Given the description of an element on the screen output the (x, y) to click on. 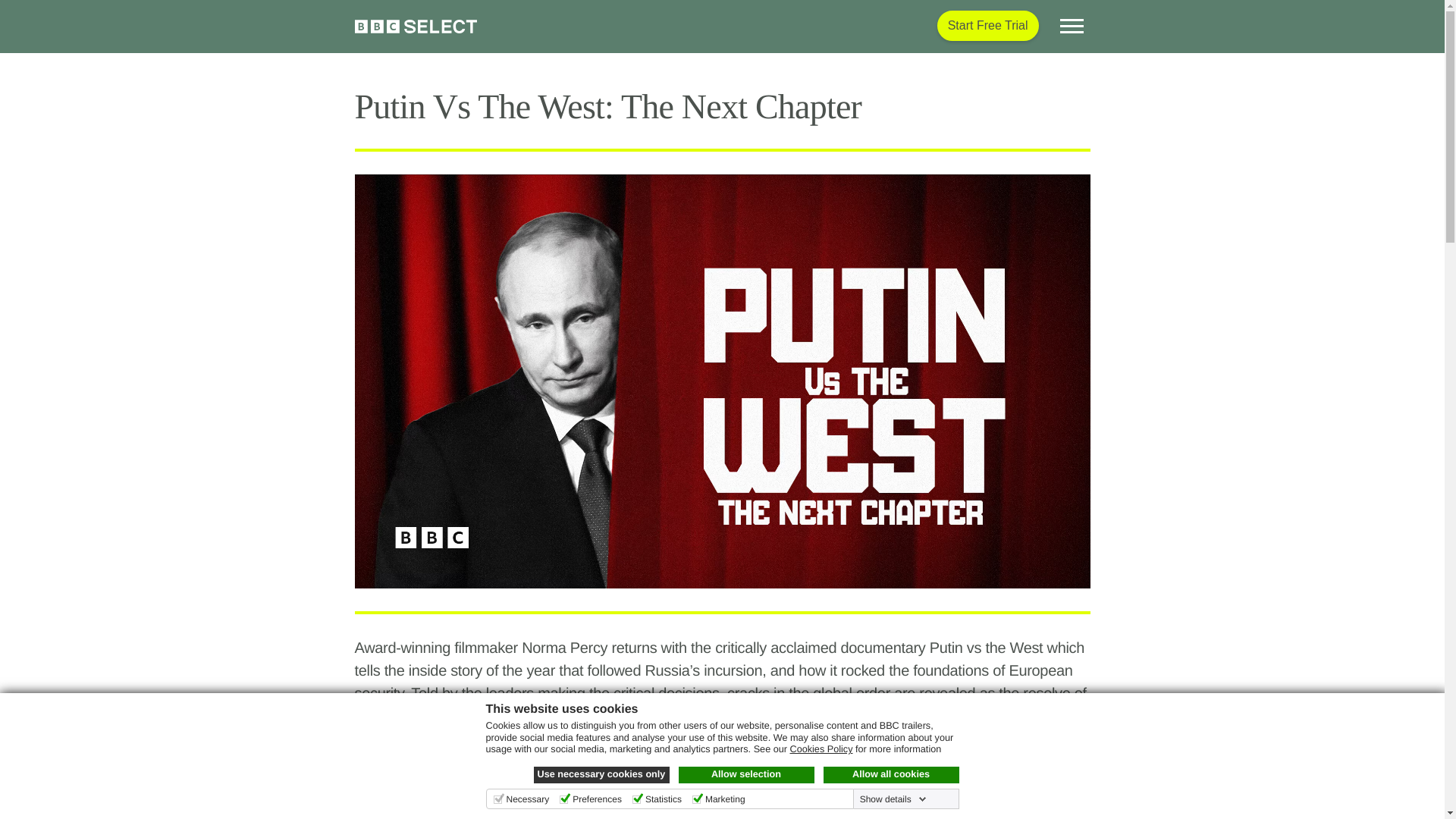
Allow all cookies (891, 774)
Cookies Policy (821, 748)
Allow selection (745, 774)
Use necessary cookies only (601, 774)
Show details (893, 799)
